Given the description of an element on the screen output the (x, y) to click on. 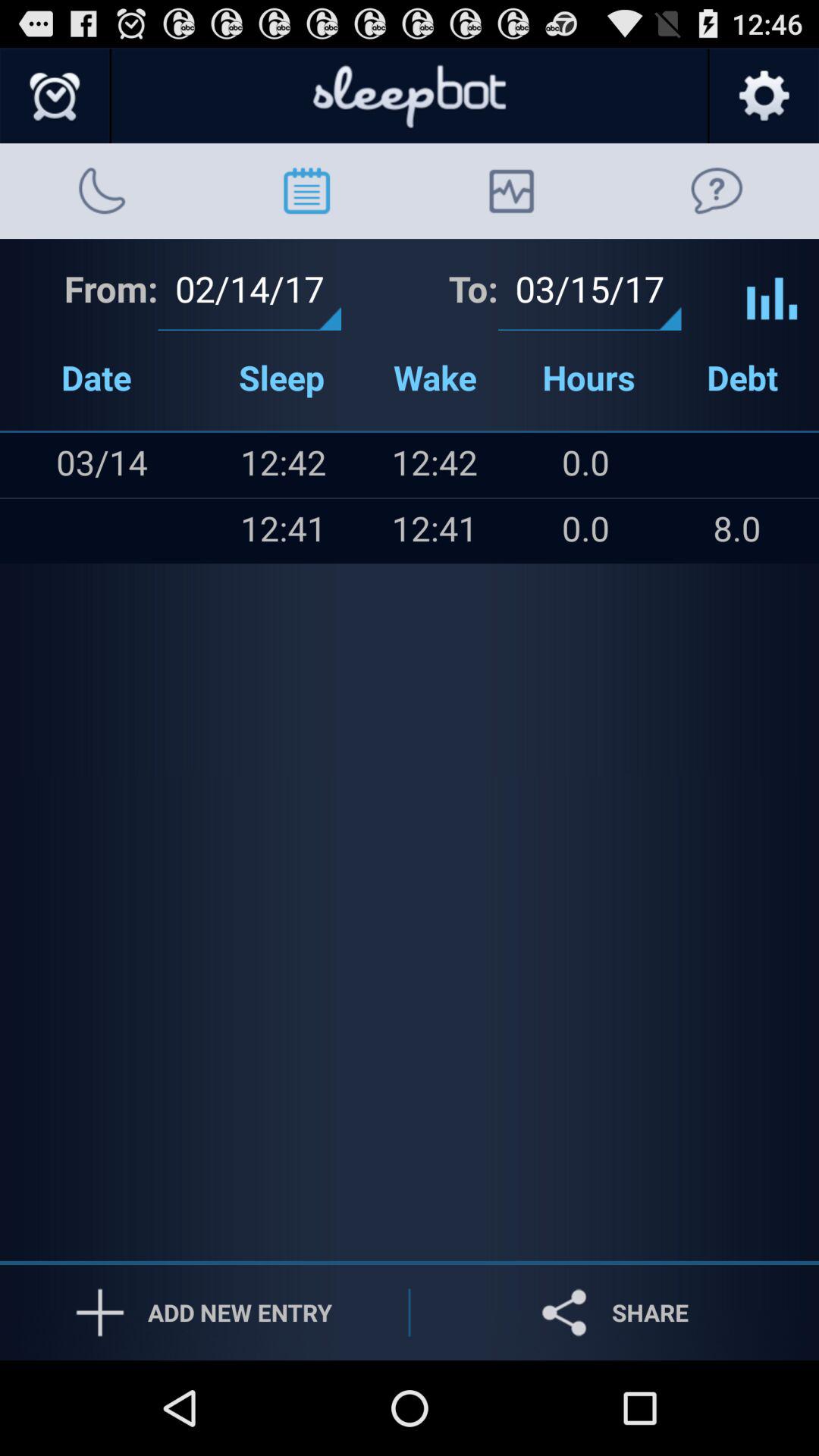
view alarms (55, 96)
